Given the description of an element on the screen output the (x, y) to click on. 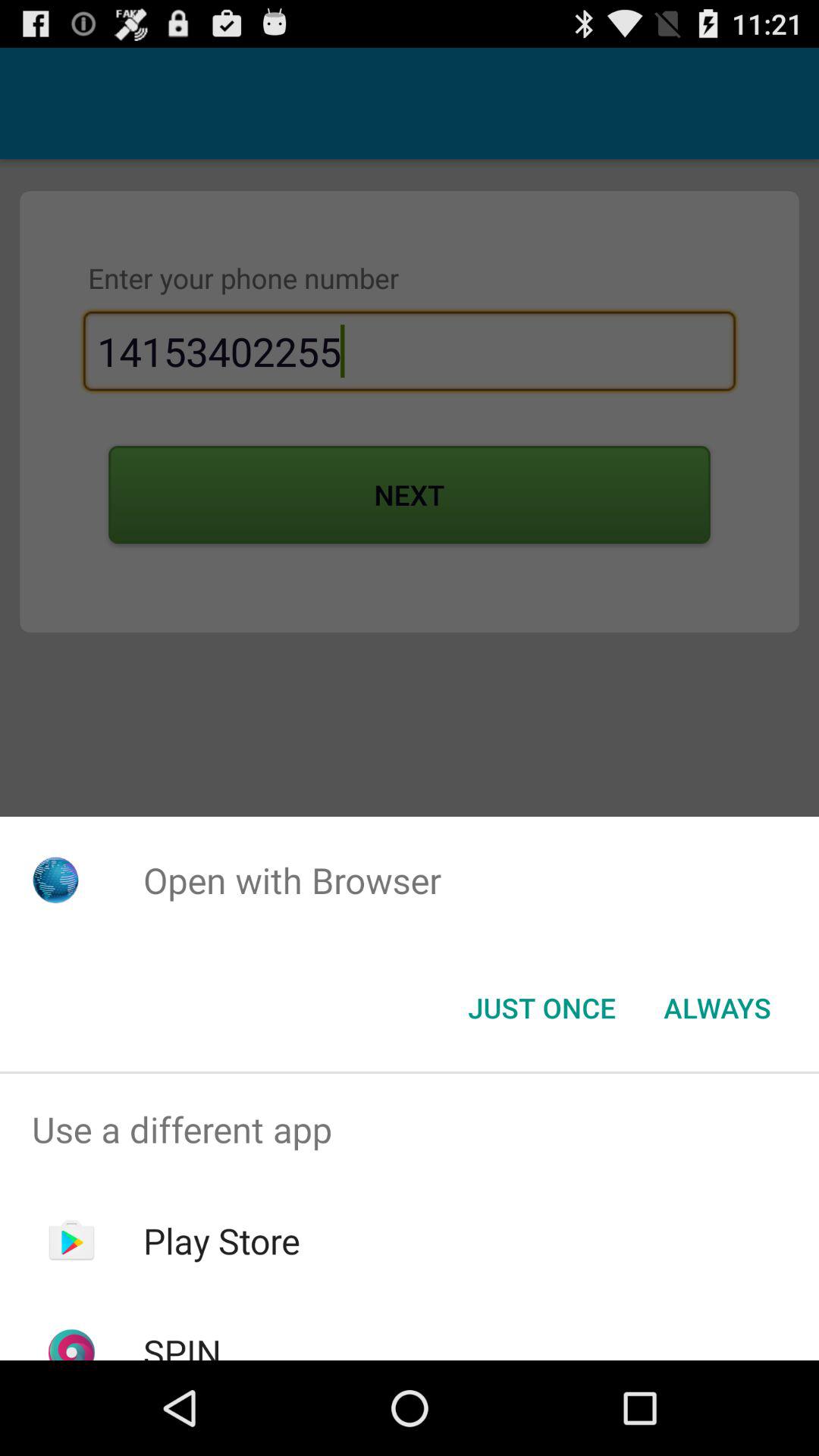
turn on the icon above spin item (221, 1240)
